Given the description of an element on the screen output the (x, y) to click on. 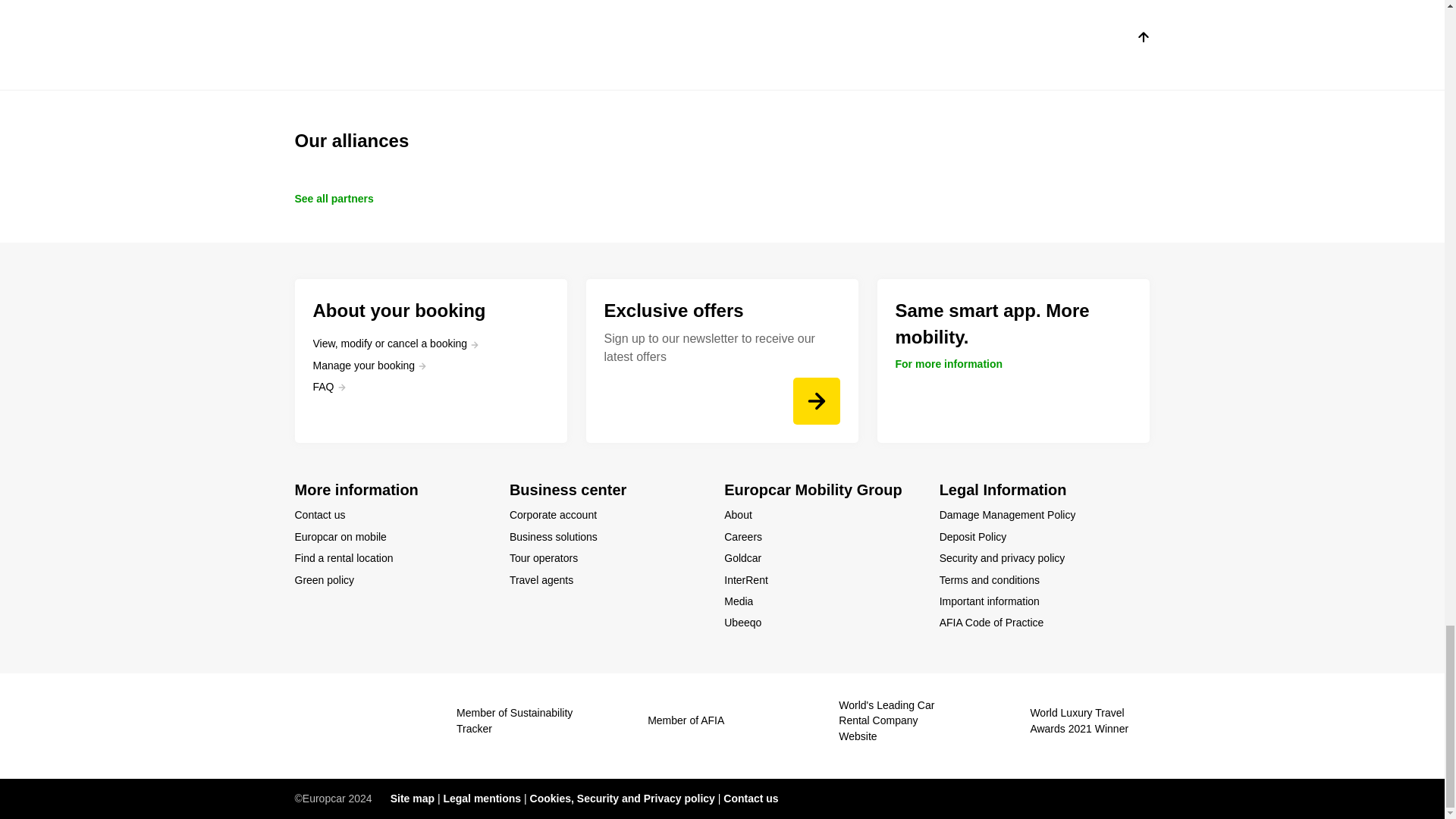
FAQ (329, 386)
See all partners (333, 198)
top (1142, 39)
Manage your booking (369, 365)
View, modify or cancel a booking (396, 343)
More information (392, 490)
Our alliances (722, 140)
For more information (949, 363)
